Given the description of an element on the screen output the (x, y) to click on. 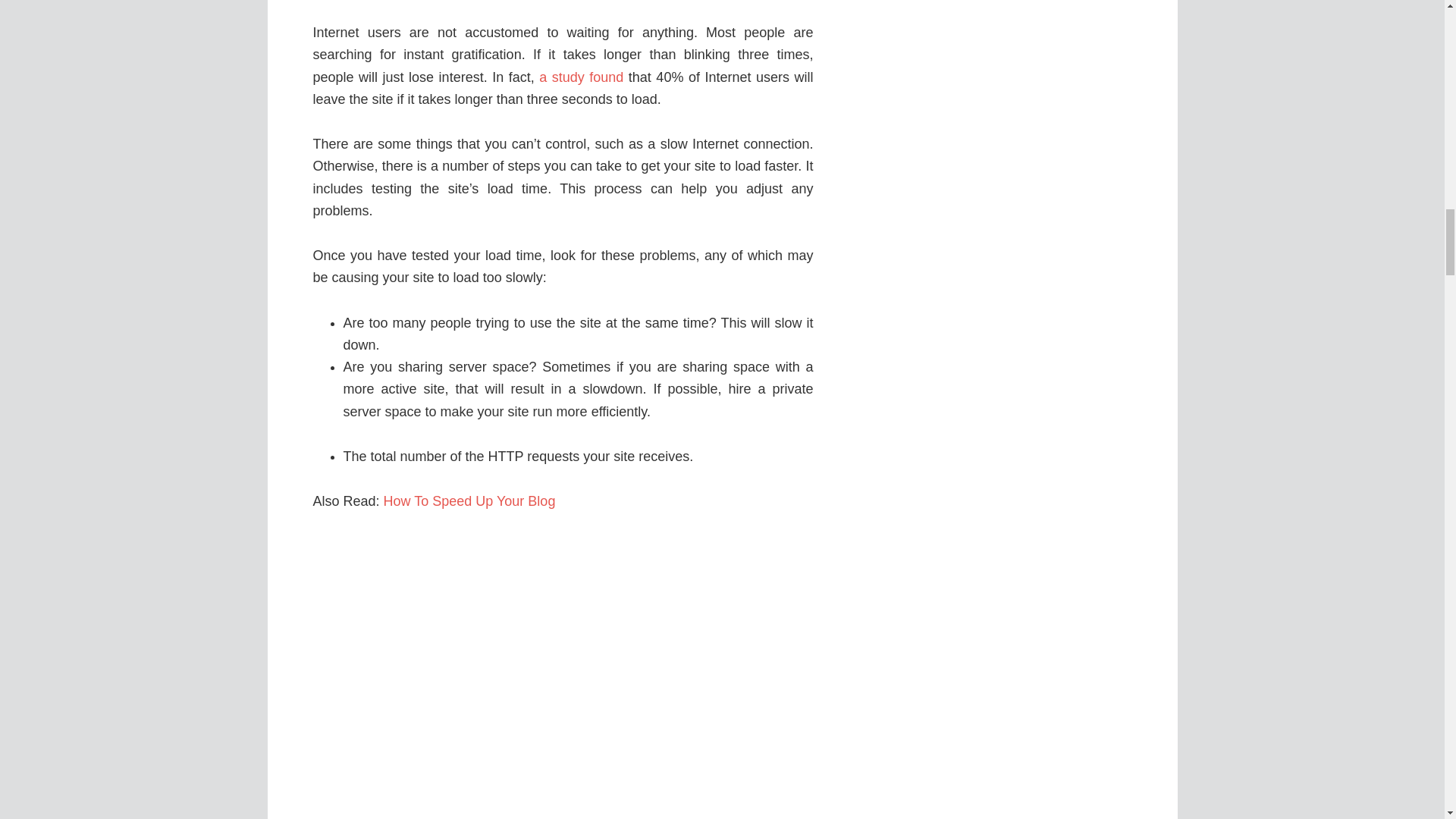
a study found (580, 77)
How To Speed Up Your Blog (470, 500)
